Given the description of an element on the screen output the (x, y) to click on. 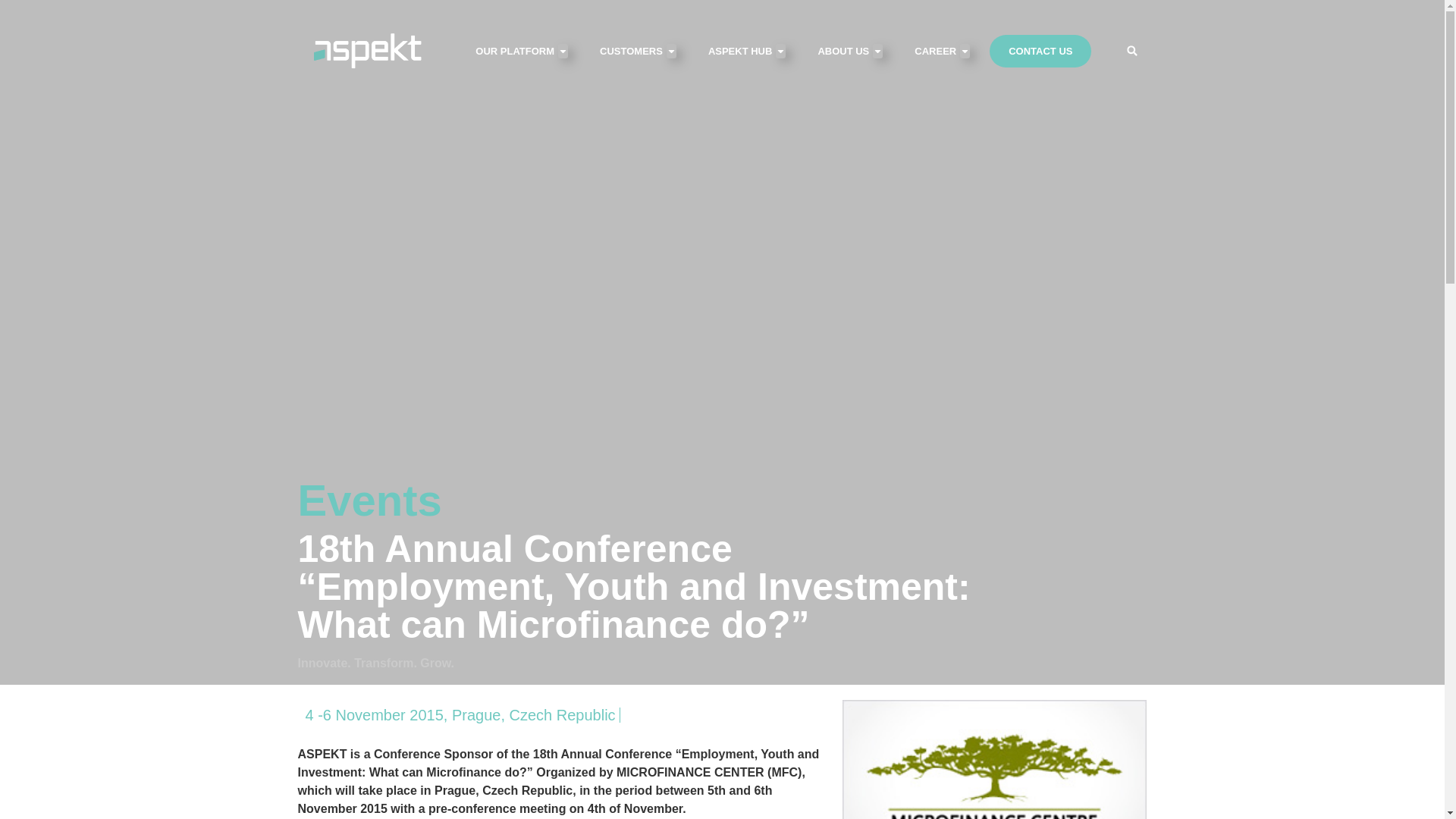
CONTACT US (1040, 51)
